Given the description of an element on the screen output the (x, y) to click on. 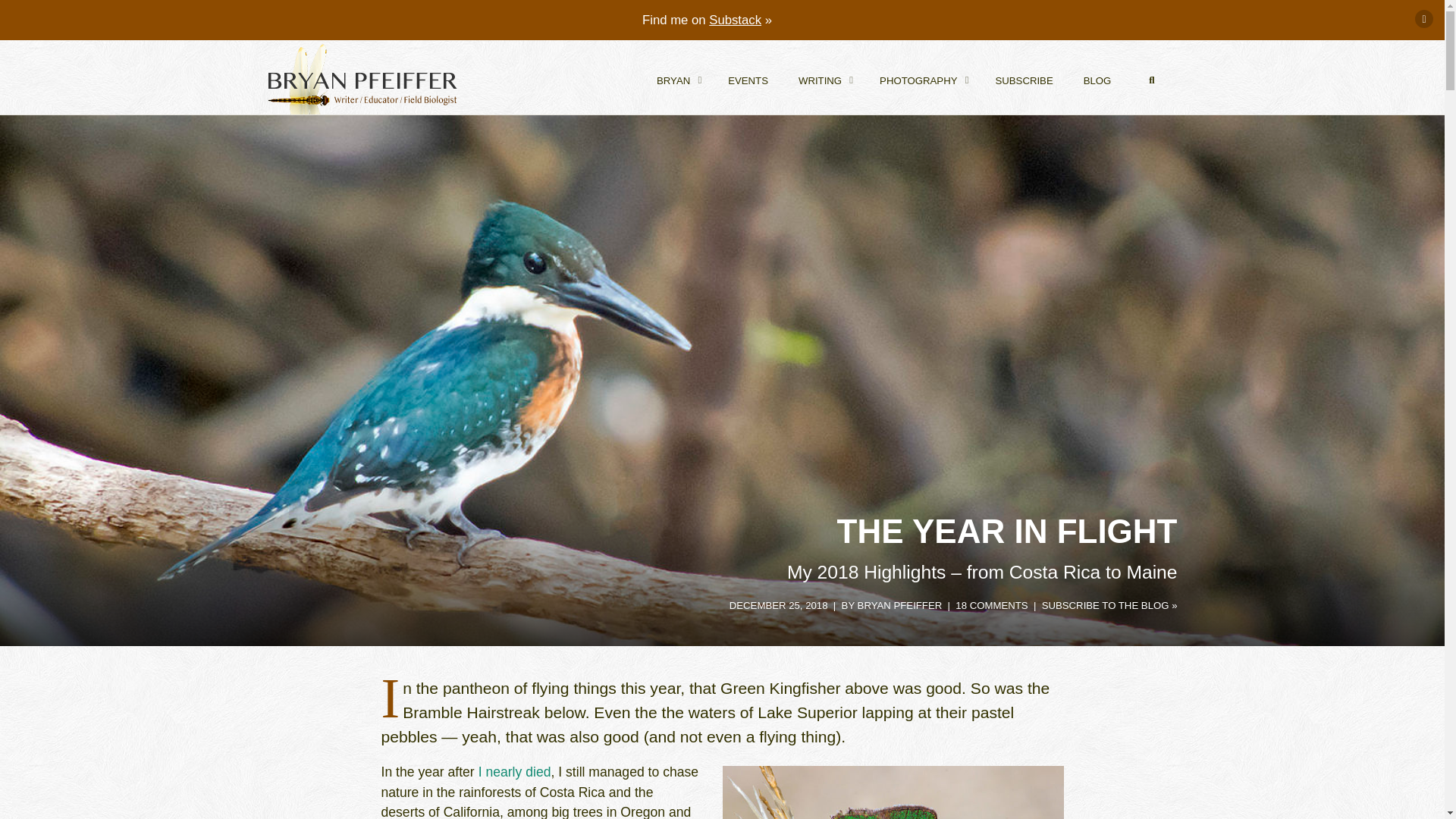
BRYAN (677, 77)
WRITING (823, 77)
PHOTOGRAPHY (921, 77)
Substack (735, 20)
I nearly died (515, 771)
Bryan Pfeiffer (361, 79)
Search (1150, 79)
EVENTS (909, 77)
18 COMMENTS (748, 77)
